Given the description of an element on the screen output the (x, y) to click on. 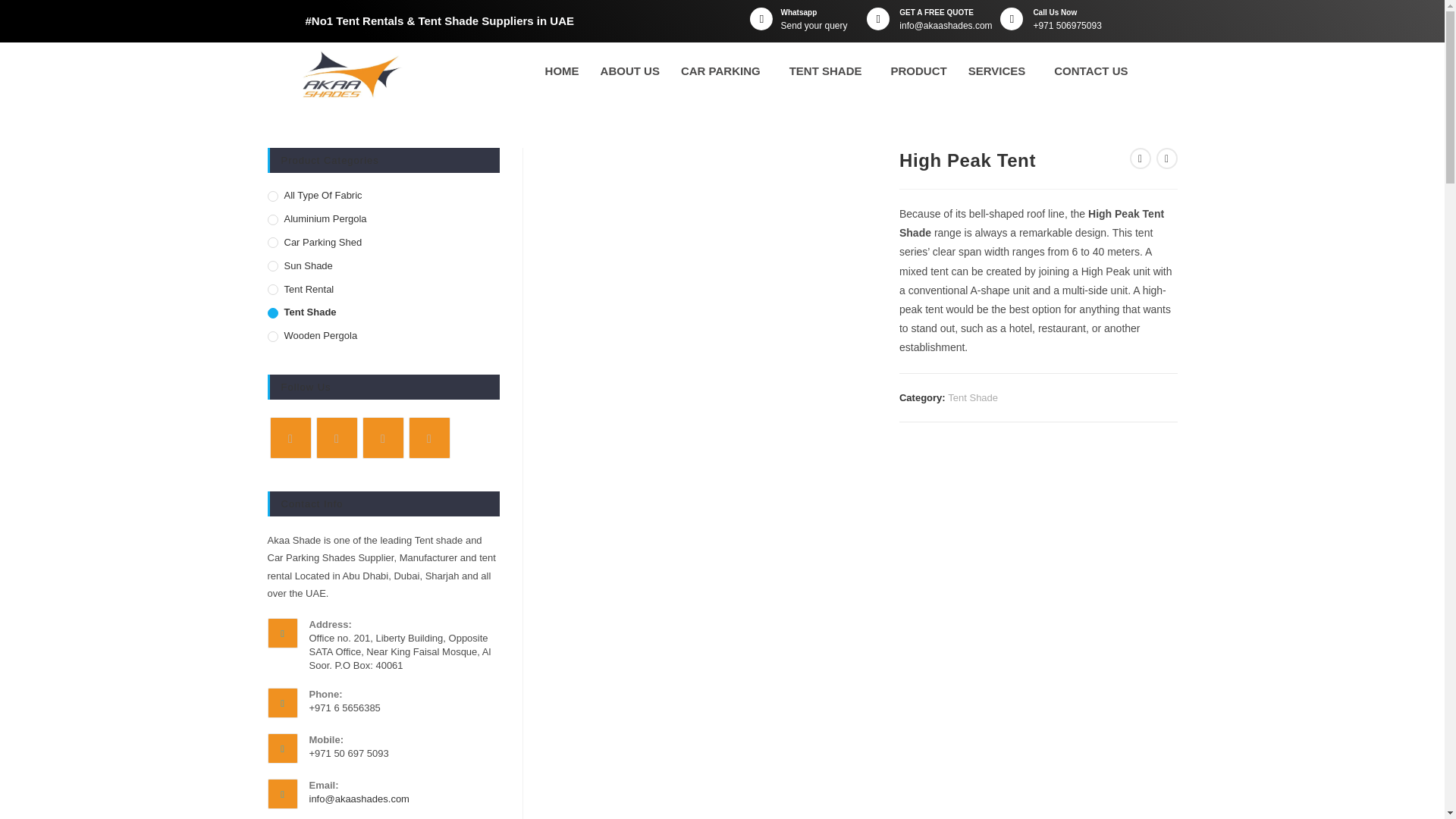
CAR PARKING (723, 70)
Whatsapp (798, 12)
SERVICES (1000, 70)
Call Us Now (1054, 12)
TENT SHADE (829, 70)
HOME (561, 70)
ABOUT US (629, 70)
CONTACT US (1090, 70)
PRODUCT (919, 70)
GET A FREE QUOTE (936, 12)
